Given the description of an element on the screen output the (x, y) to click on. 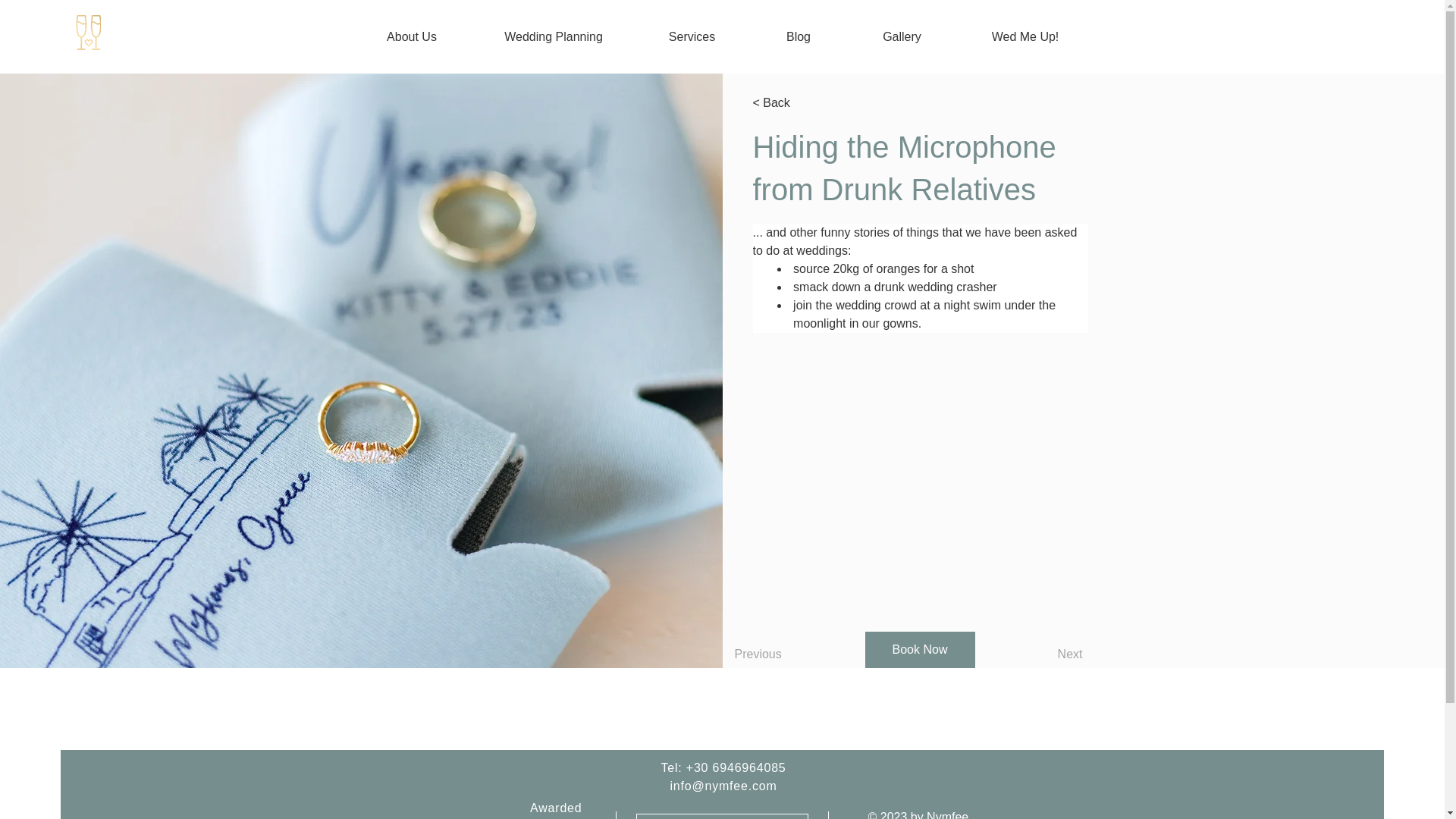
Gallery (901, 37)
Blog (798, 37)
Contact Us (721, 816)
Wedding Planning (553, 37)
Wed Me Up! (1025, 37)
About Us (410, 37)
Next (1039, 654)
Previous (777, 654)
Services (691, 37)
Book Now (919, 649)
